Given the description of an element on the screen output the (x, y) to click on. 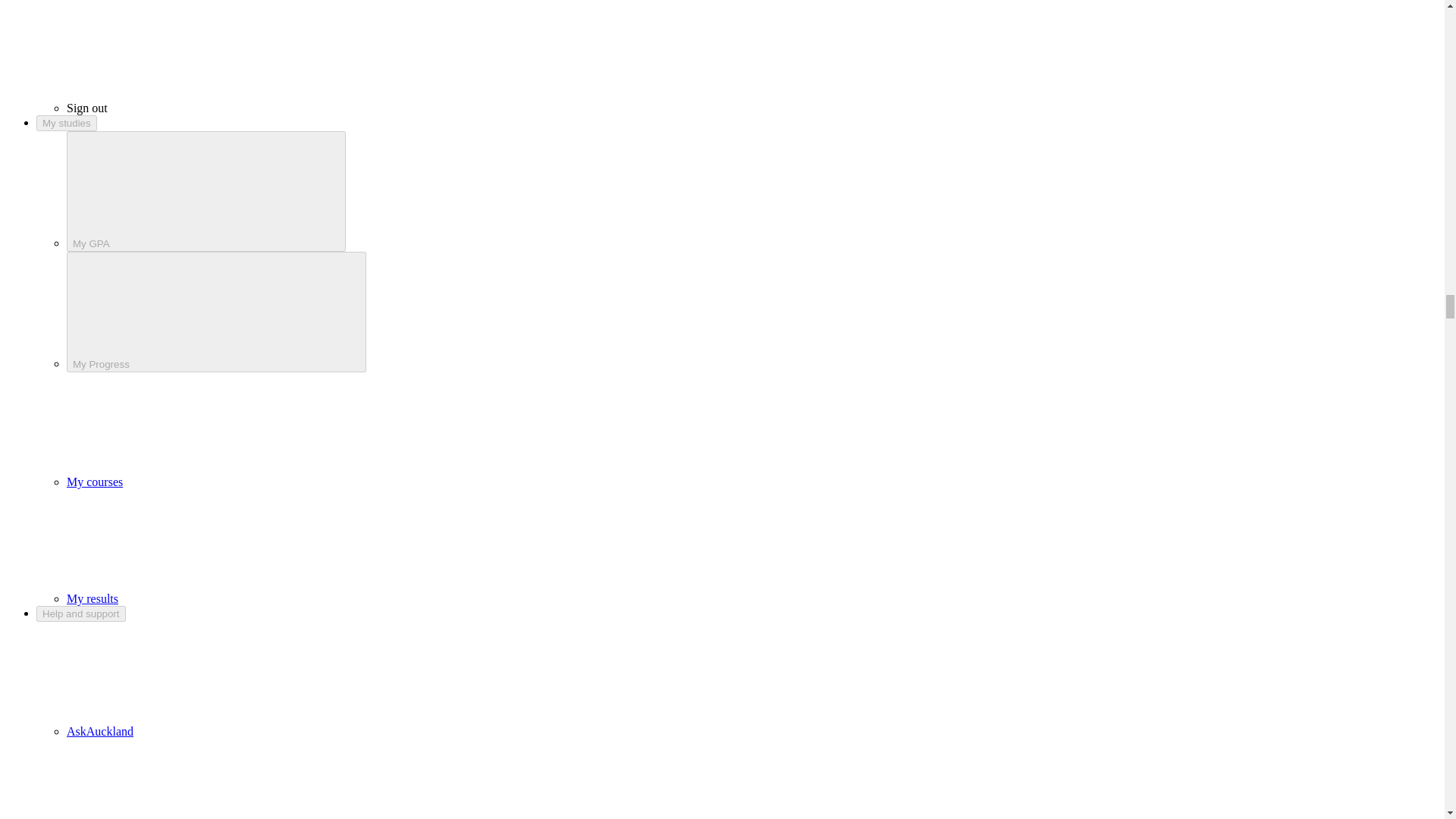
Sign out (201, 107)
